Given the description of an element on the screen output the (x, y) to click on. 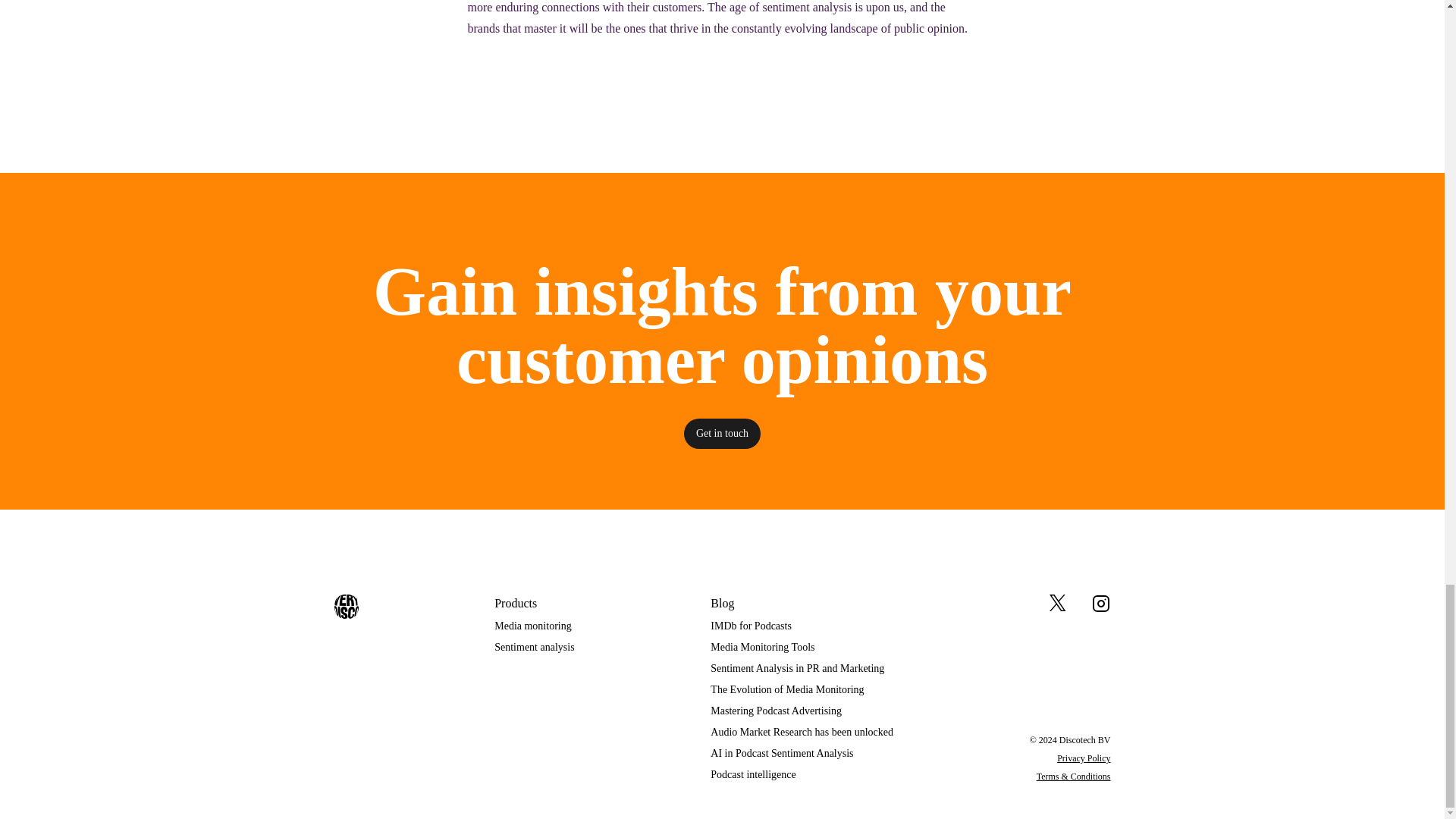
Privacy Policy (1083, 758)
Mastering Podcast Advertising (801, 711)
The Evolution of Media Monitoring (801, 689)
Media Monitoring Tools (801, 647)
Podcast intelligence (801, 774)
AI in Podcast Sentiment Analysis (801, 753)
Audio Market Research has been unlocked (801, 732)
Sentiment Analysis in PR and Marketing (801, 668)
Sentiment analysis (534, 647)
Media monitoring (534, 626)
